Given the description of an element on the screen output the (x, y) to click on. 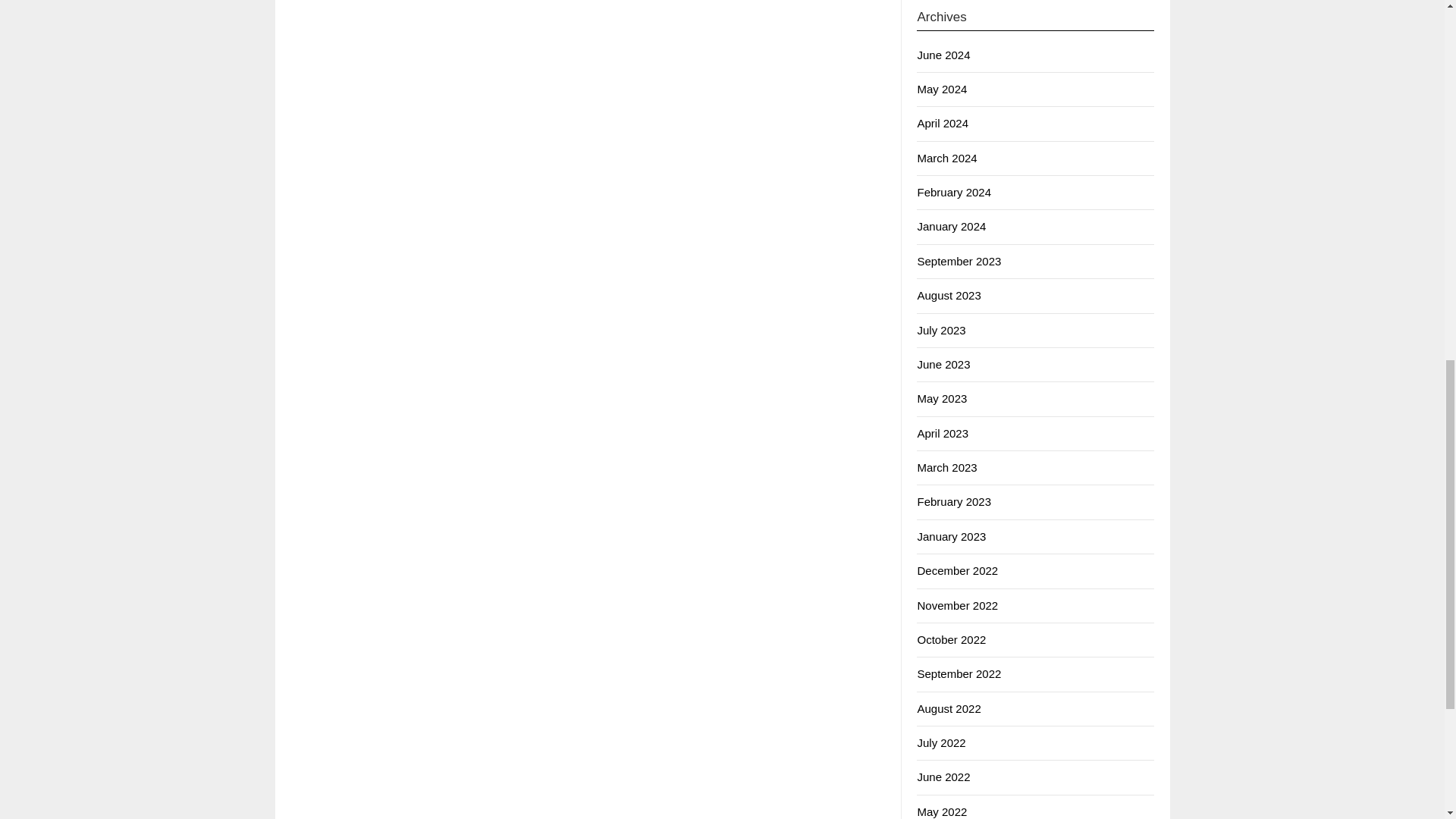
January 2024 (951, 226)
May 2024 (941, 88)
March 2024 (946, 157)
June 2023 (943, 364)
May 2023 (941, 398)
September 2023 (959, 260)
August 2023 (948, 295)
February 2024 (954, 192)
June 2024 (943, 54)
April 2024 (942, 123)
April 2023 (942, 432)
July 2023 (941, 329)
